Given the description of an element on the screen output the (x, y) to click on. 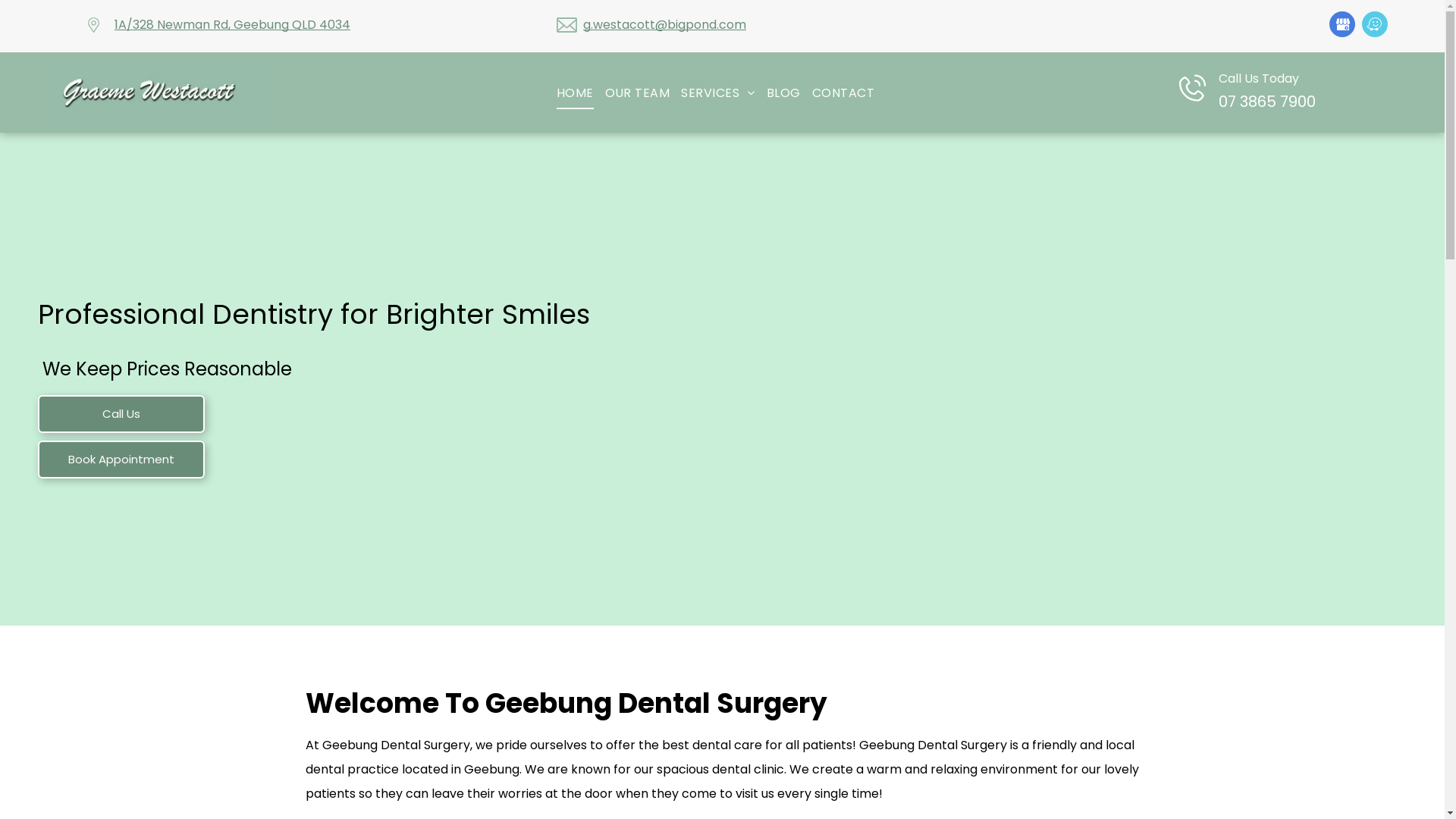
Geebung Dental Surgery - Graeme Westacott Element type: hover (159, 91)
Book Appointment Element type: text (120, 459)
SERVICES Element type: text (722, 93)
CONTACT Element type: text (848, 93)
Call Us Element type: text (120, 414)
BLOG Element type: text (789, 93)
g.westacott@bigpond.com Element type: text (664, 24)
HOME Element type: text (580, 93)
OUR TEAM Element type: text (643, 93)
07 3865 7900 Element type: text (1266, 101)
1A/328 Newman Rd, Geebung QLD 4034 Element type: text (232, 24)
